Given the description of an element on the screen output the (x, y) to click on. 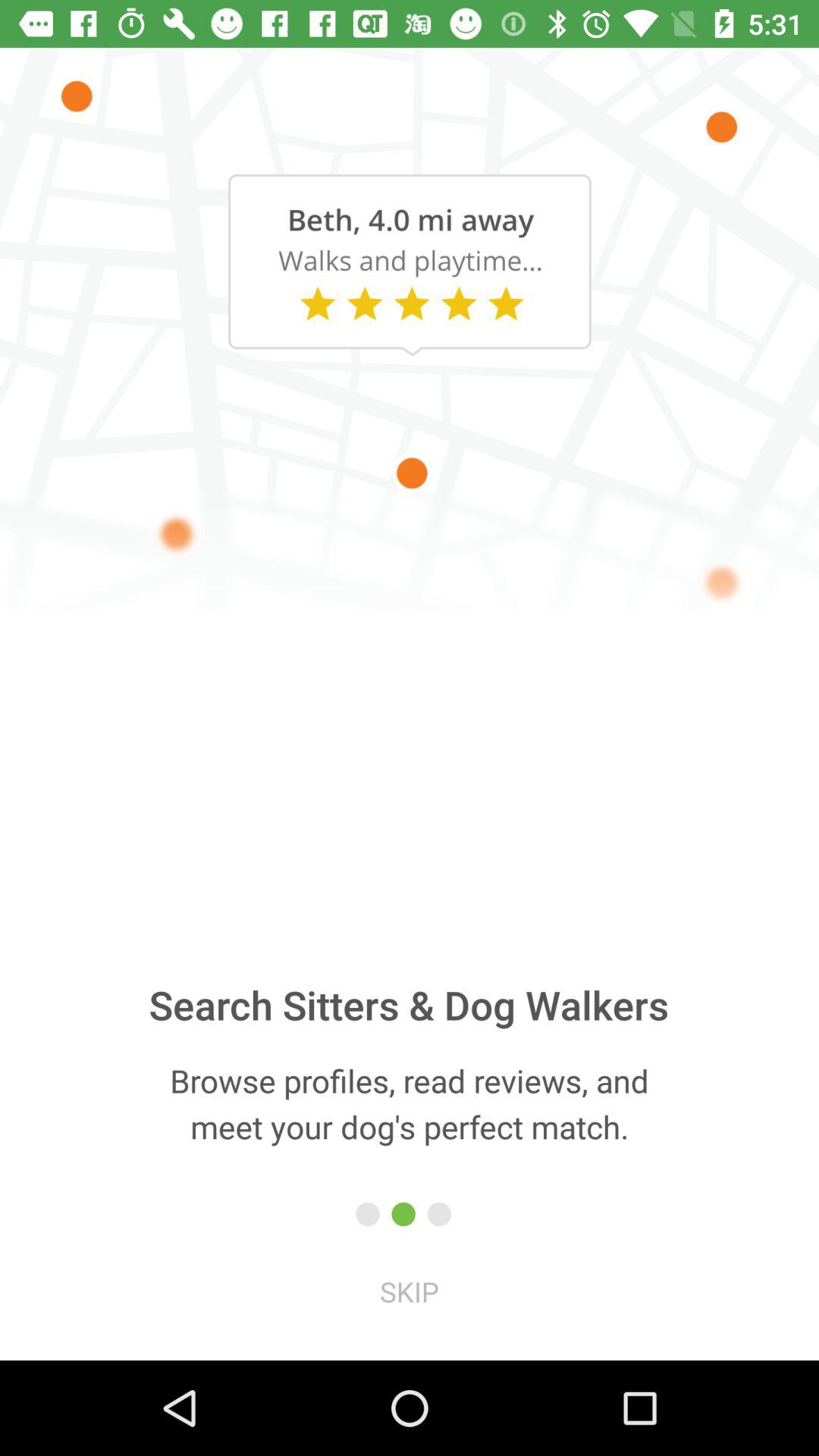
swipe until skip item (409, 1291)
